Given the description of an element on the screen output the (x, y) to click on. 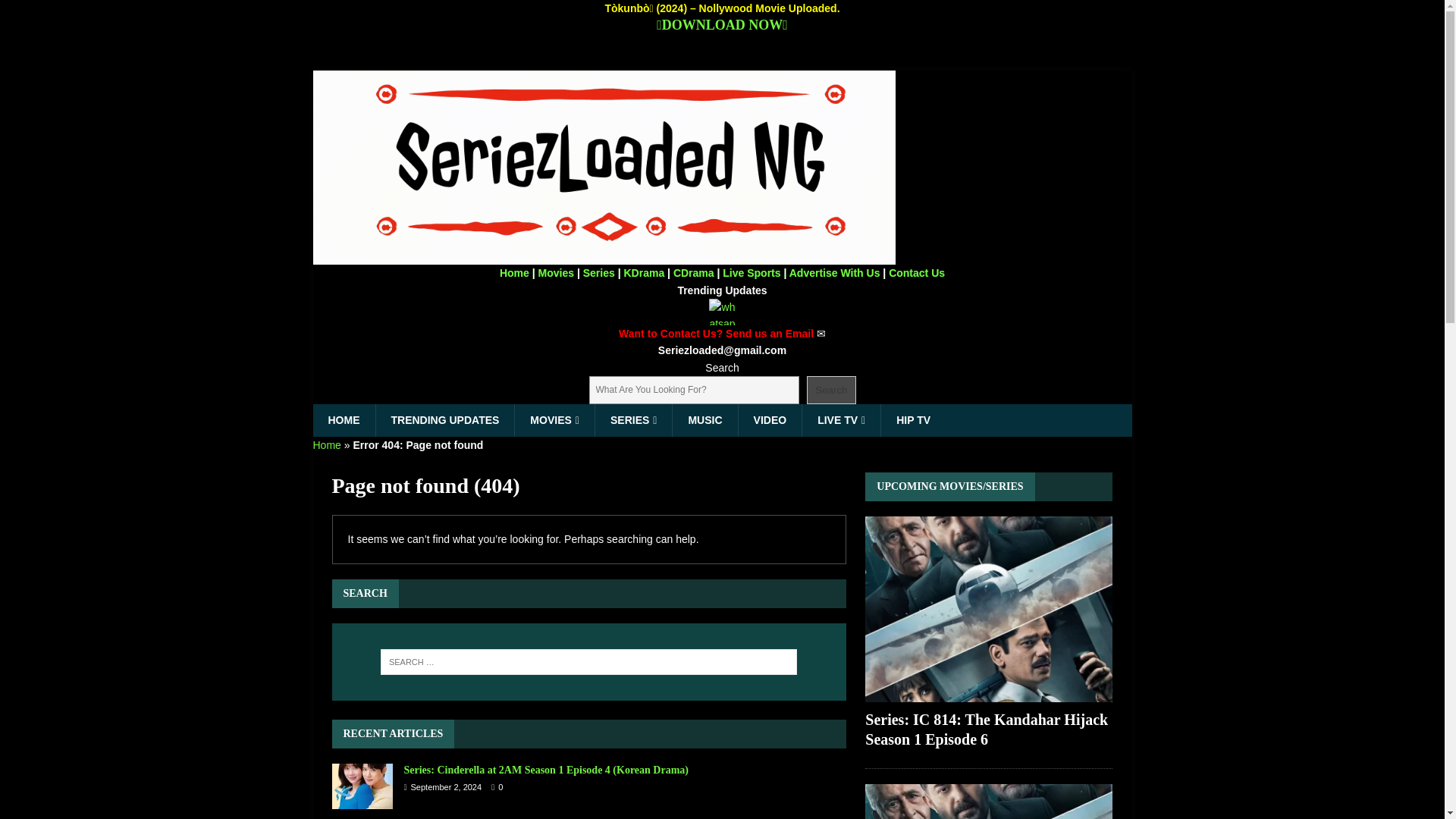
Live Sports (751, 272)
KDrama (643, 272)
Trending Updates (722, 290)
Search (831, 389)
Series (598, 272)
WhatsApp (722, 311)
CDrama (693, 272)
Contact Us (916, 272)
Movies (555, 272)
Advertise With Us (834, 272)
